Given the description of an element on the screen output the (x, y) to click on. 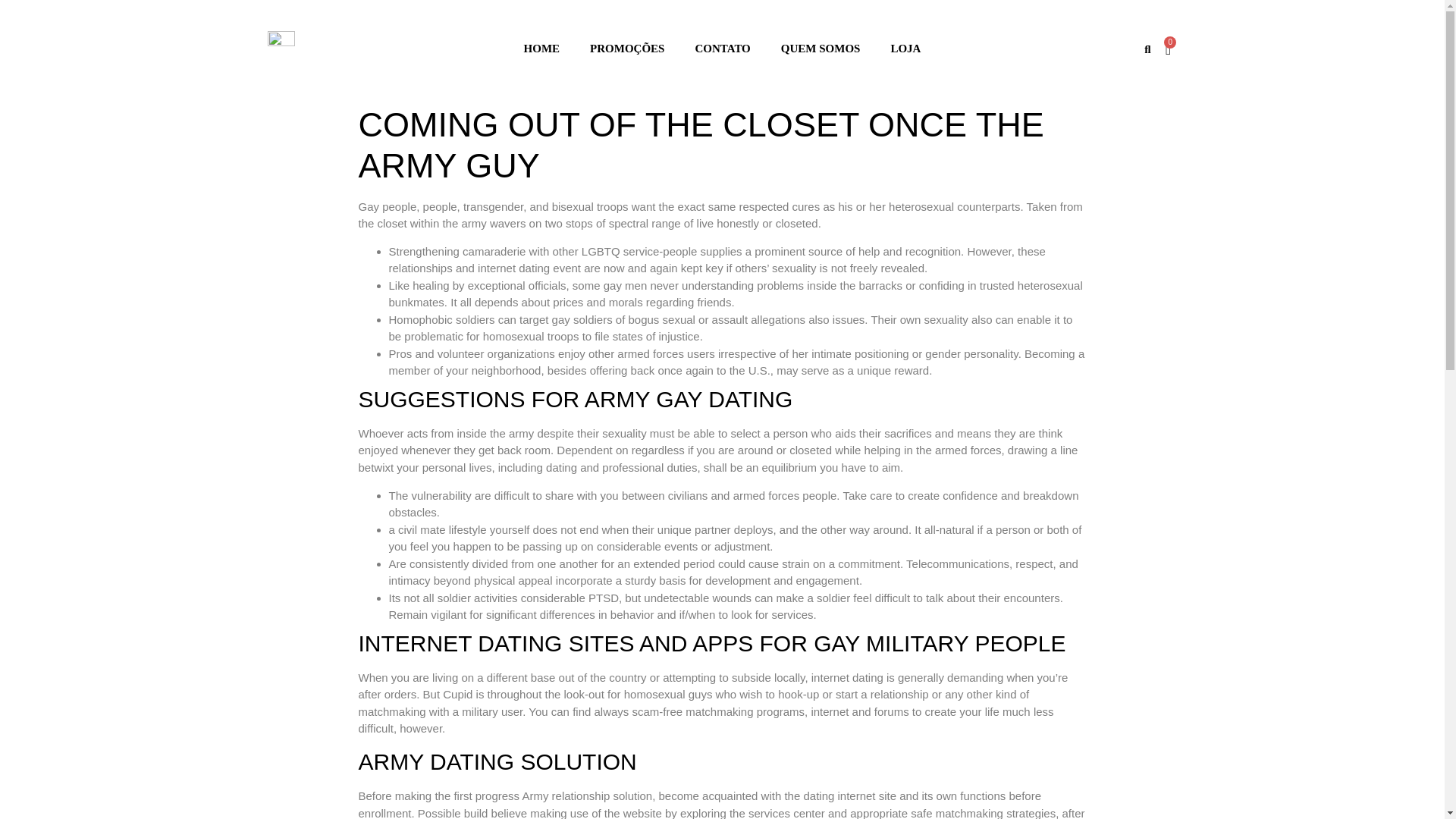
LOJA (905, 48)
QUEM SOMOS (820, 48)
HOME (541, 48)
CONTATO (722, 48)
